Given the description of an element on the screen output the (x, y) to click on. 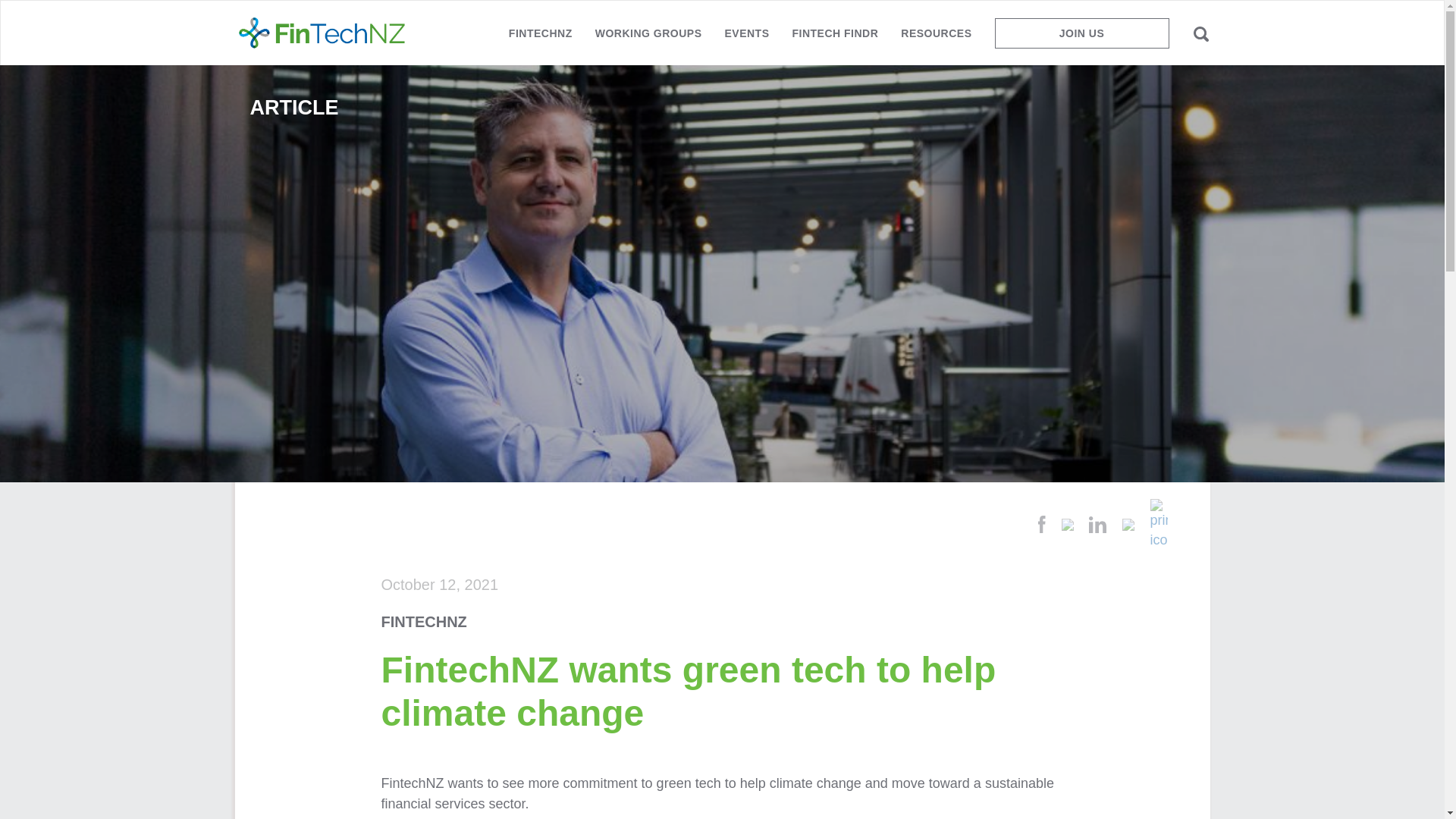
WORKING GROUPS (648, 38)
FINTECH FINDR (834, 38)
JOIN US (1080, 32)
RESOURCES (935, 38)
FintechNZ (321, 33)
FINTECHNZ (540, 38)
EVENTS (746, 38)
